Given the description of an element on the screen output the (x, y) to click on. 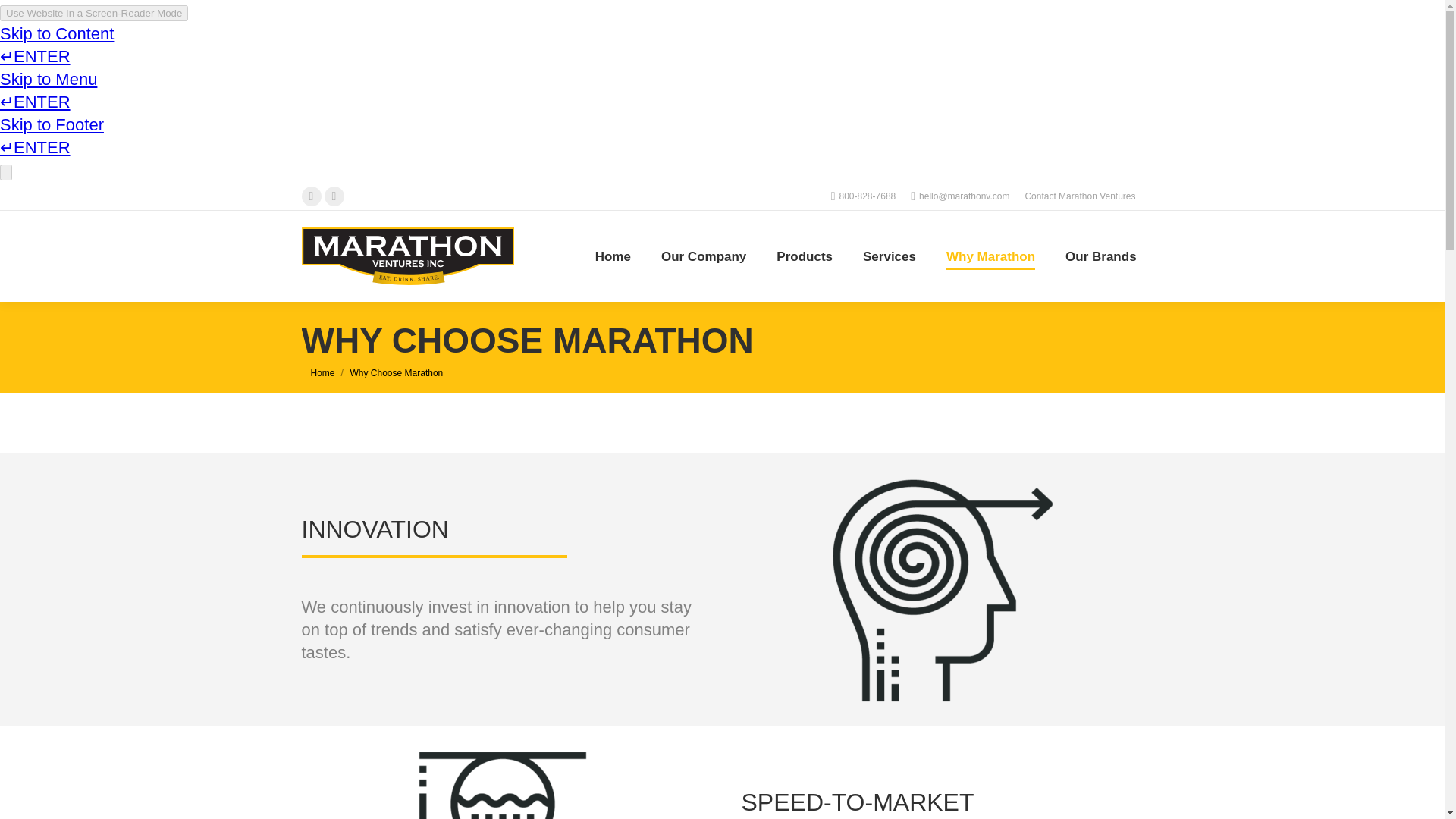
Why Marathon (990, 256)
Instagram (333, 196)
Facebook (311, 196)
innovation (941, 589)
Contact Marathon Ventures (1080, 196)
Go! (22, 14)
Instagram (333, 196)
Our Company (703, 256)
Our Brands (1101, 256)
Facebook (311, 196)
